Given the description of an element on the screen output the (x, y) to click on. 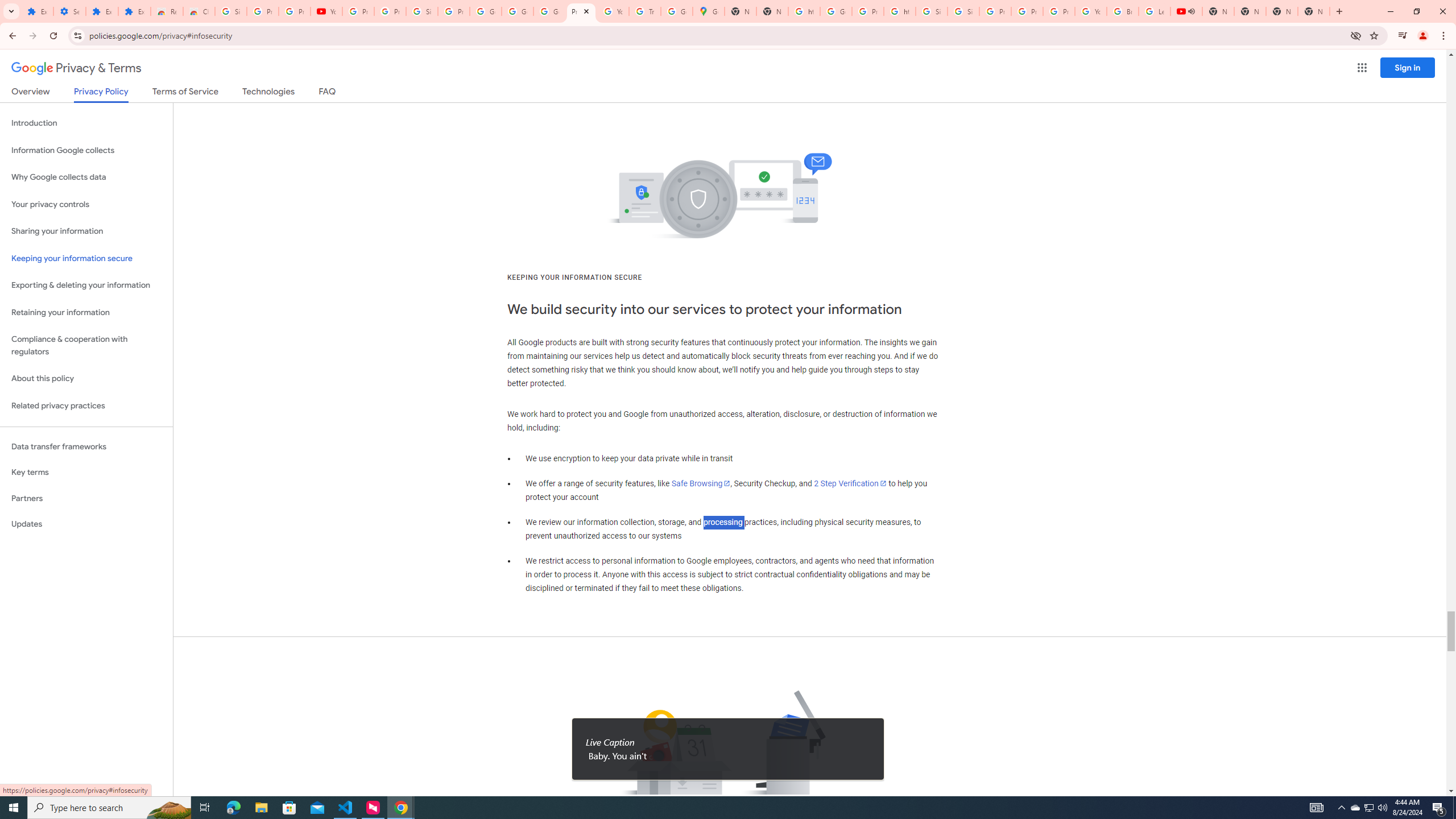
Information Google collects (86, 150)
Privacy Help Center - Policies Help (1027, 11)
Sign in - Google Accounts (931, 11)
Keeping your information secure (86, 258)
YouTube (1091, 11)
